Given the description of an element on the screen output the (x, y) to click on. 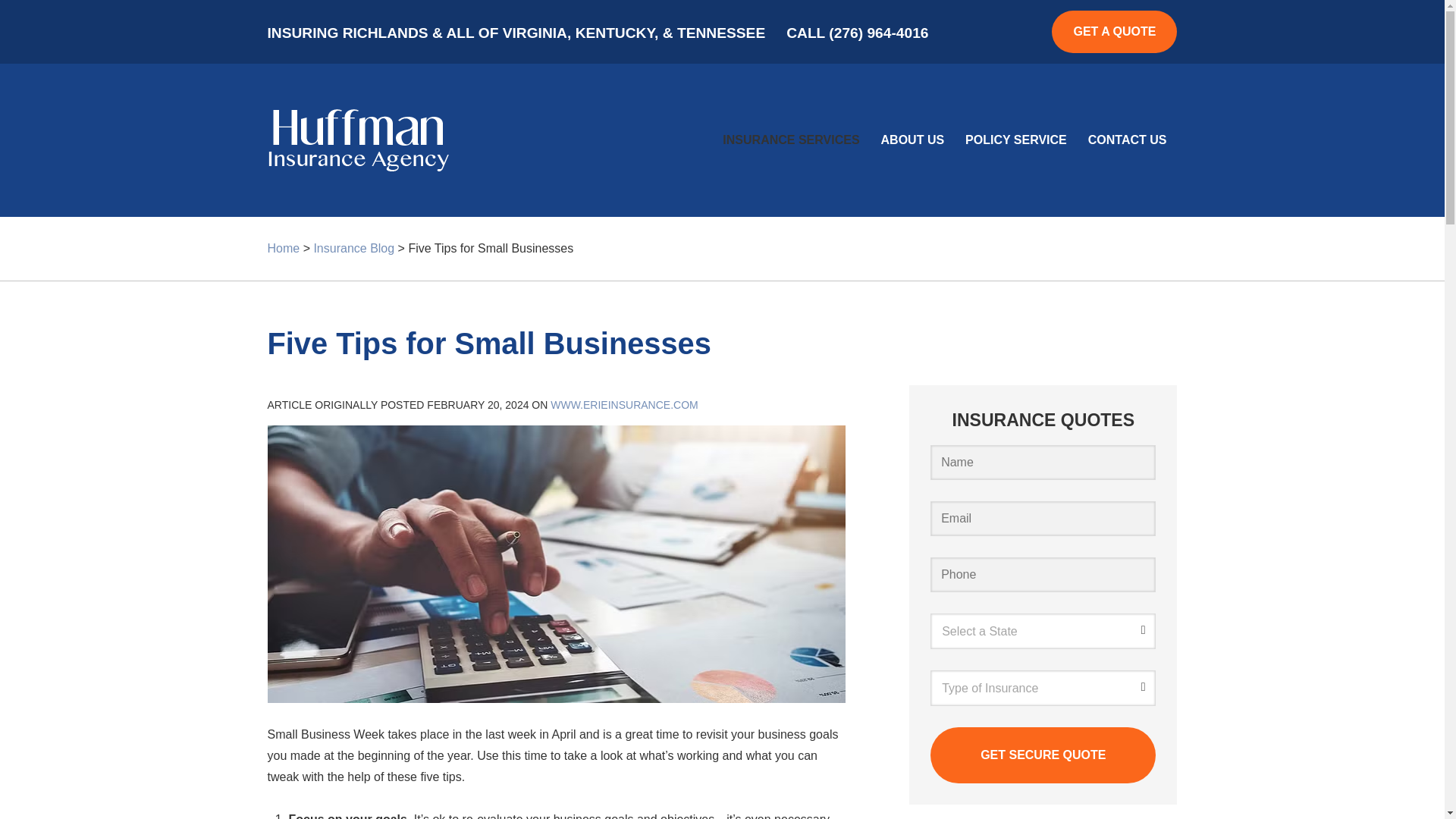
GET A QUOTE (1113, 31)
ABOUT US (912, 139)
Get Secure Quote (1043, 754)
Huffman Insurance Agency, Richlands (357, 140)
INSURANCE SERVICES (790, 139)
